Given the description of an element on the screen output the (x, y) to click on. 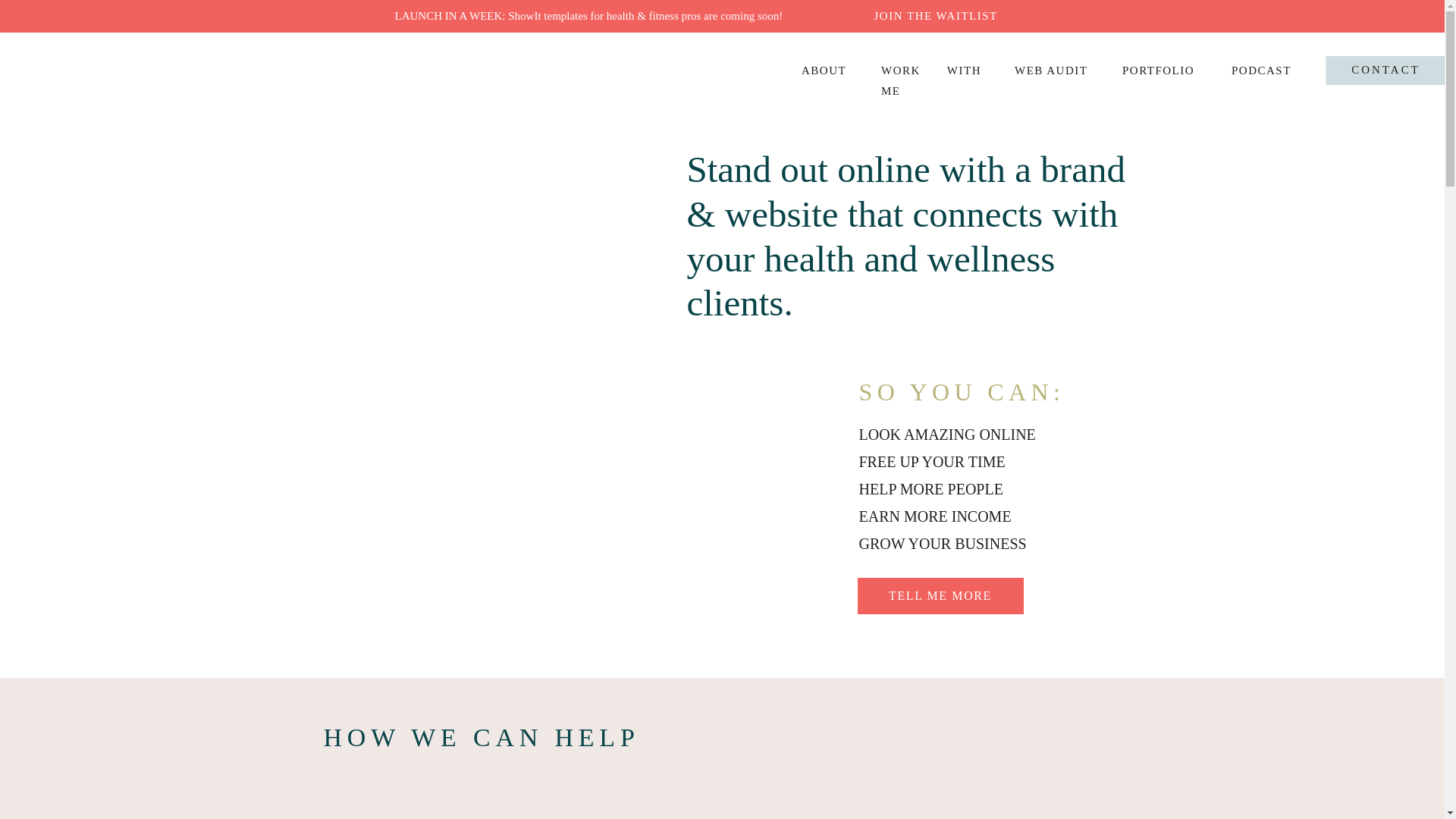
TELL ME MORE (940, 596)
WORK WITH ME (930, 70)
JOIN THE WAITLIST (961, 13)
PODCAST (1263, 70)
WEB AUDIT (1051, 70)
ABOUT (824, 70)
PORTFOLIO (1159, 70)
